Given the description of an element on the screen output the (x, y) to click on. 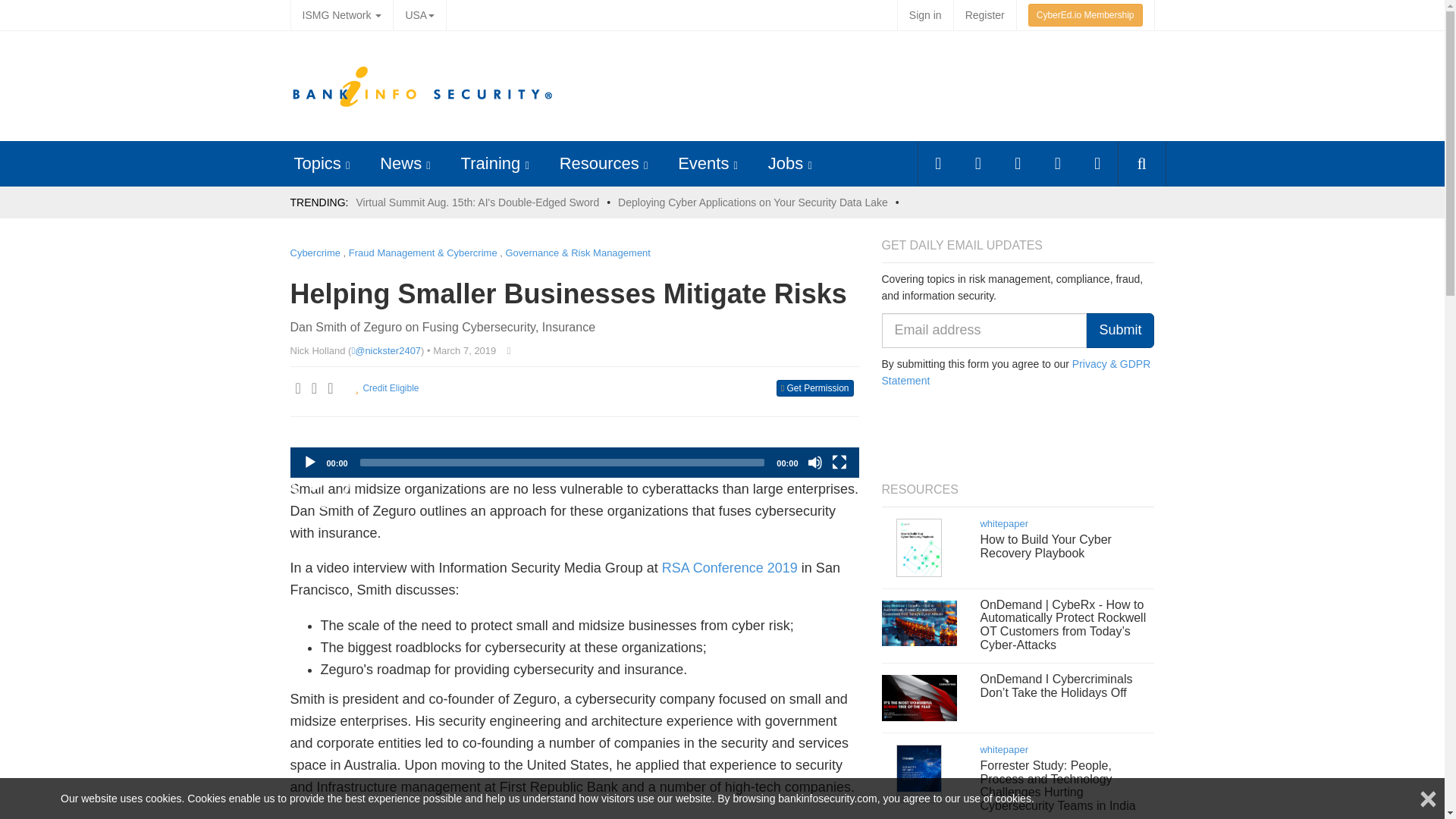
ISMG Network (341, 15)
Register (984, 15)
Topics (317, 162)
CyberEd.io Membership (1084, 15)
USA (418, 15)
Sign in (925, 15)
